Given the description of an element on the screen output the (x, y) to click on. 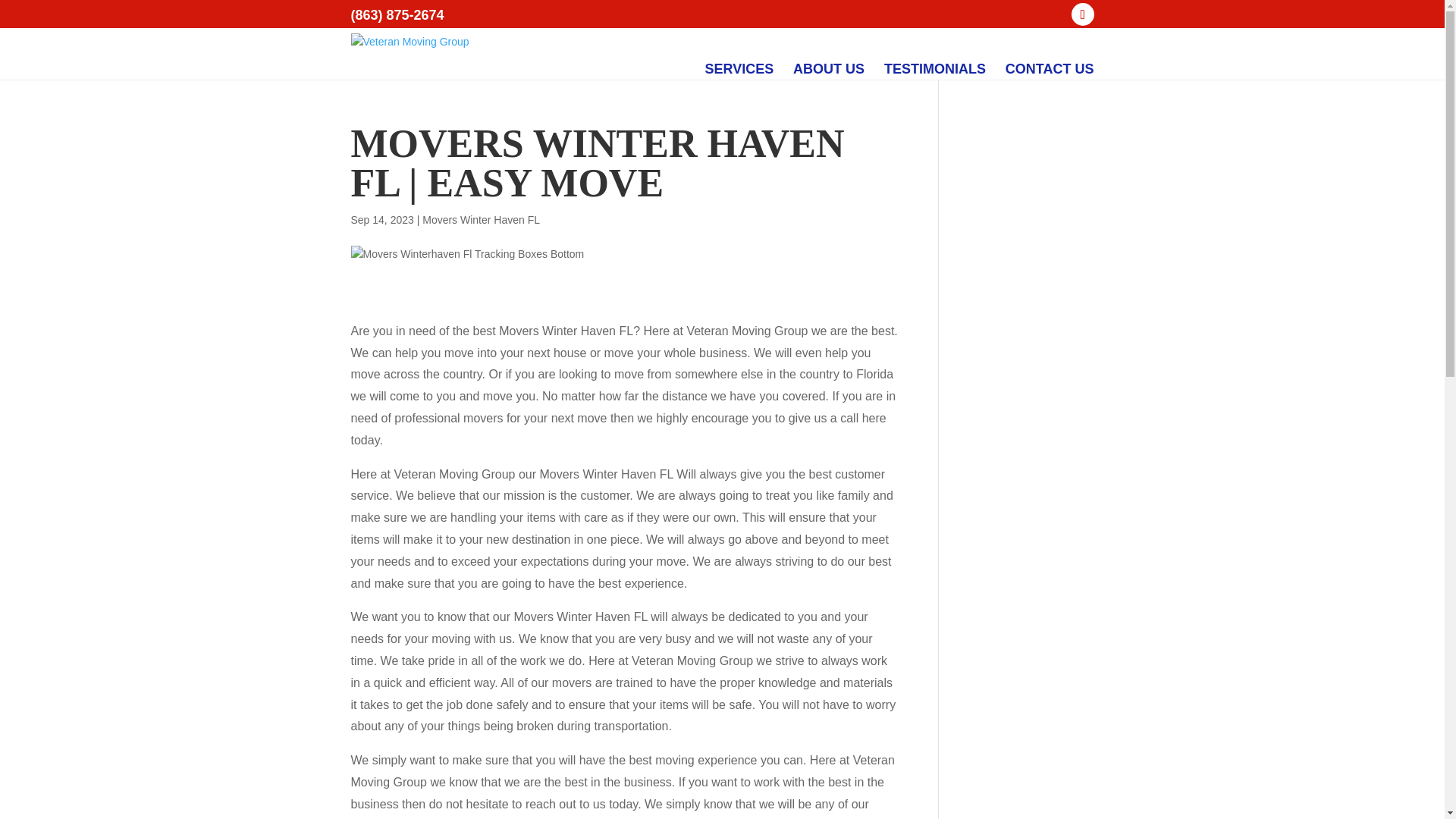
Movers Winter Haven FL (481, 219)
ABOUT US (828, 68)
SERVICES (738, 68)
CONTACT US (1050, 68)
TESTIMONIALS (934, 68)
